Given the description of an element on the screen output the (x, y) to click on. 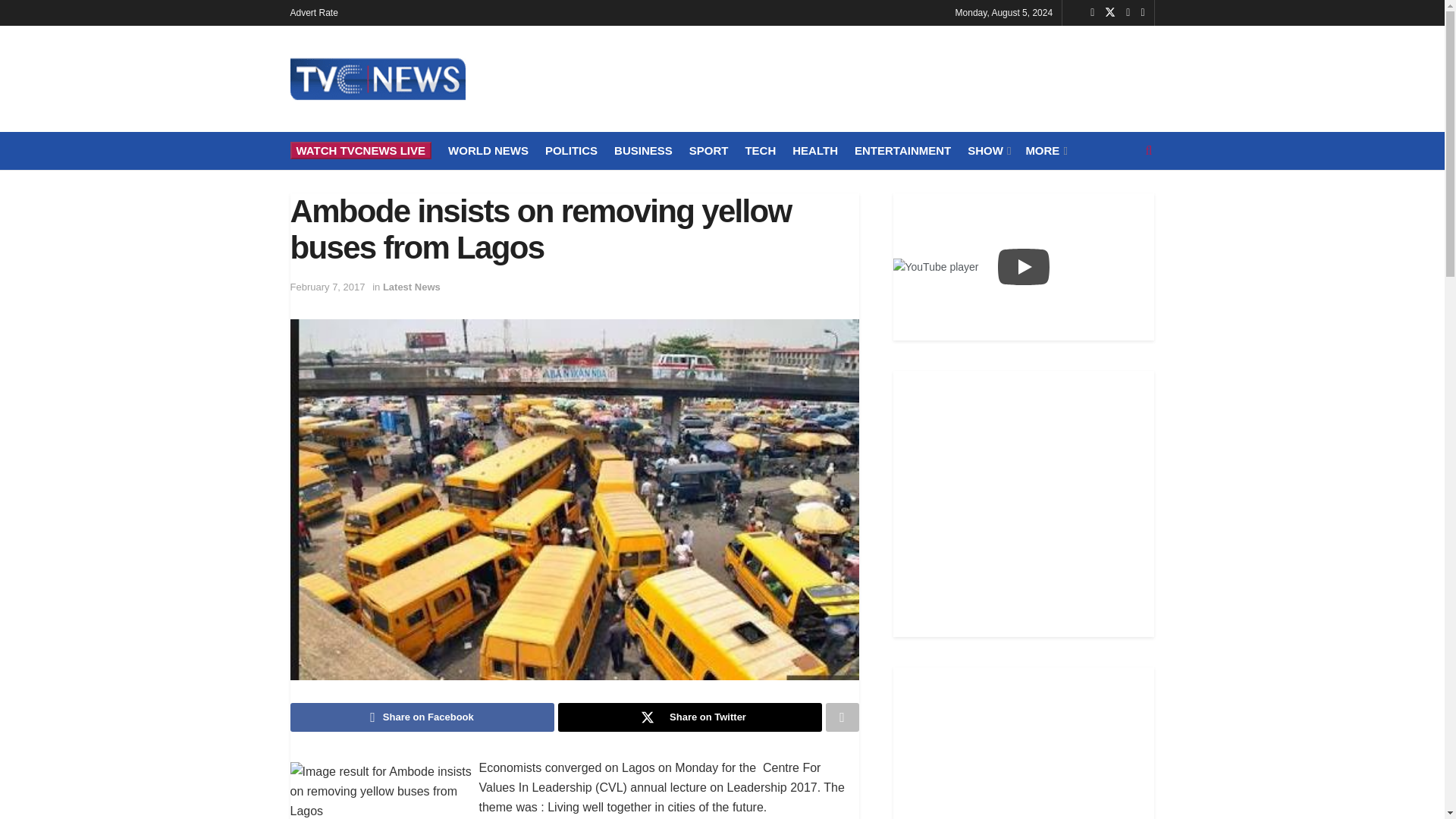
MORE (1044, 150)
SHOW (988, 150)
WATCH TVCNEWS LIVE (359, 150)
SPORT (708, 150)
WORLD NEWS (488, 150)
ENTERTAINMENT (902, 150)
Advert Rate (313, 12)
BUSINESS (643, 150)
POLITICS (570, 150)
HEALTH (815, 150)
WATCH TVCNEWS LIVE (359, 149)
TECH (760, 150)
